Given the description of an element on the screen output the (x, y) to click on. 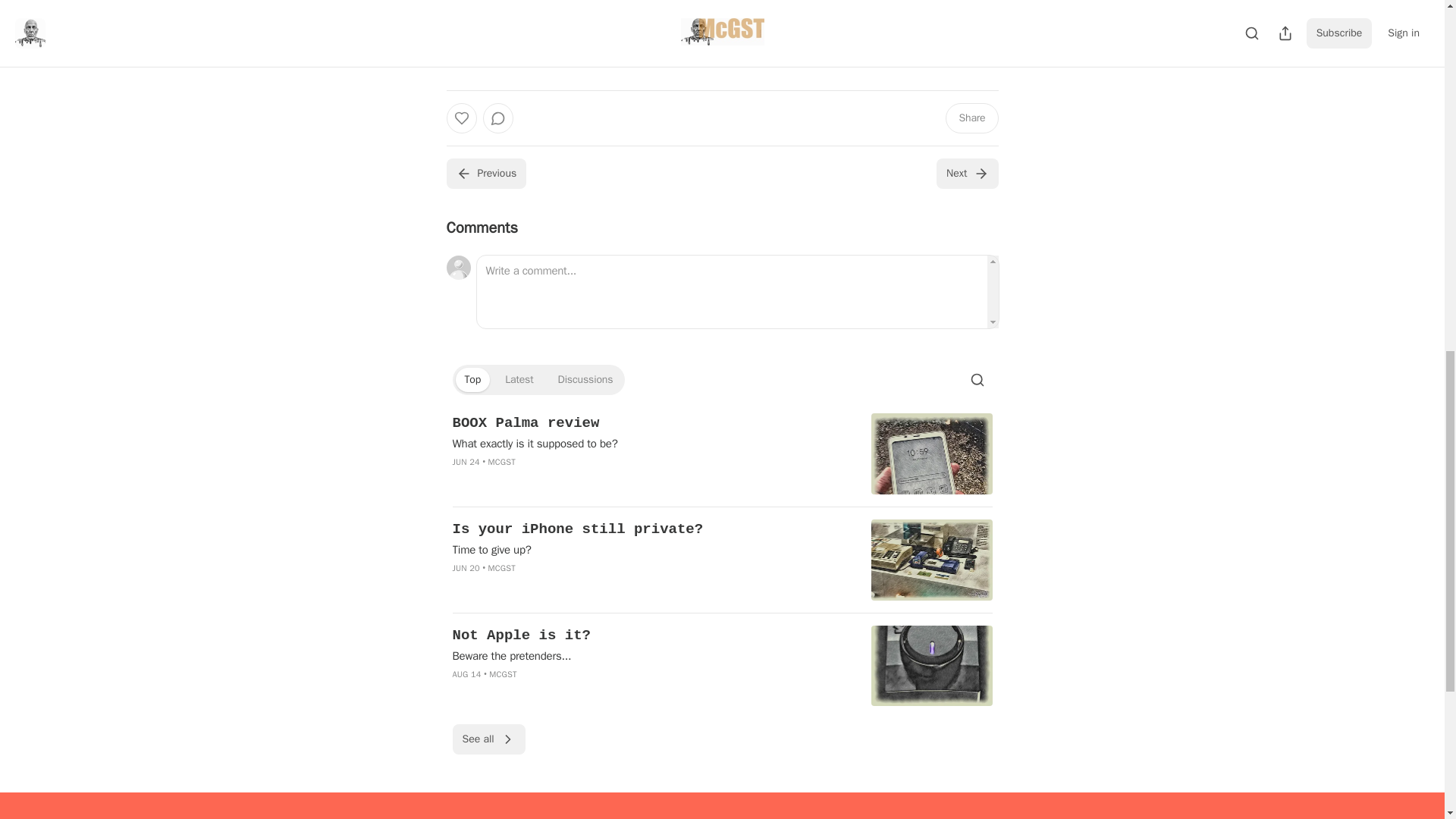
Previous (485, 173)
Top (471, 379)
Discussions (585, 379)
Share (970, 118)
Latest (518, 379)
Subscribe (827, 51)
Next (966, 173)
